Given the description of an element on the screen output the (x, y) to click on. 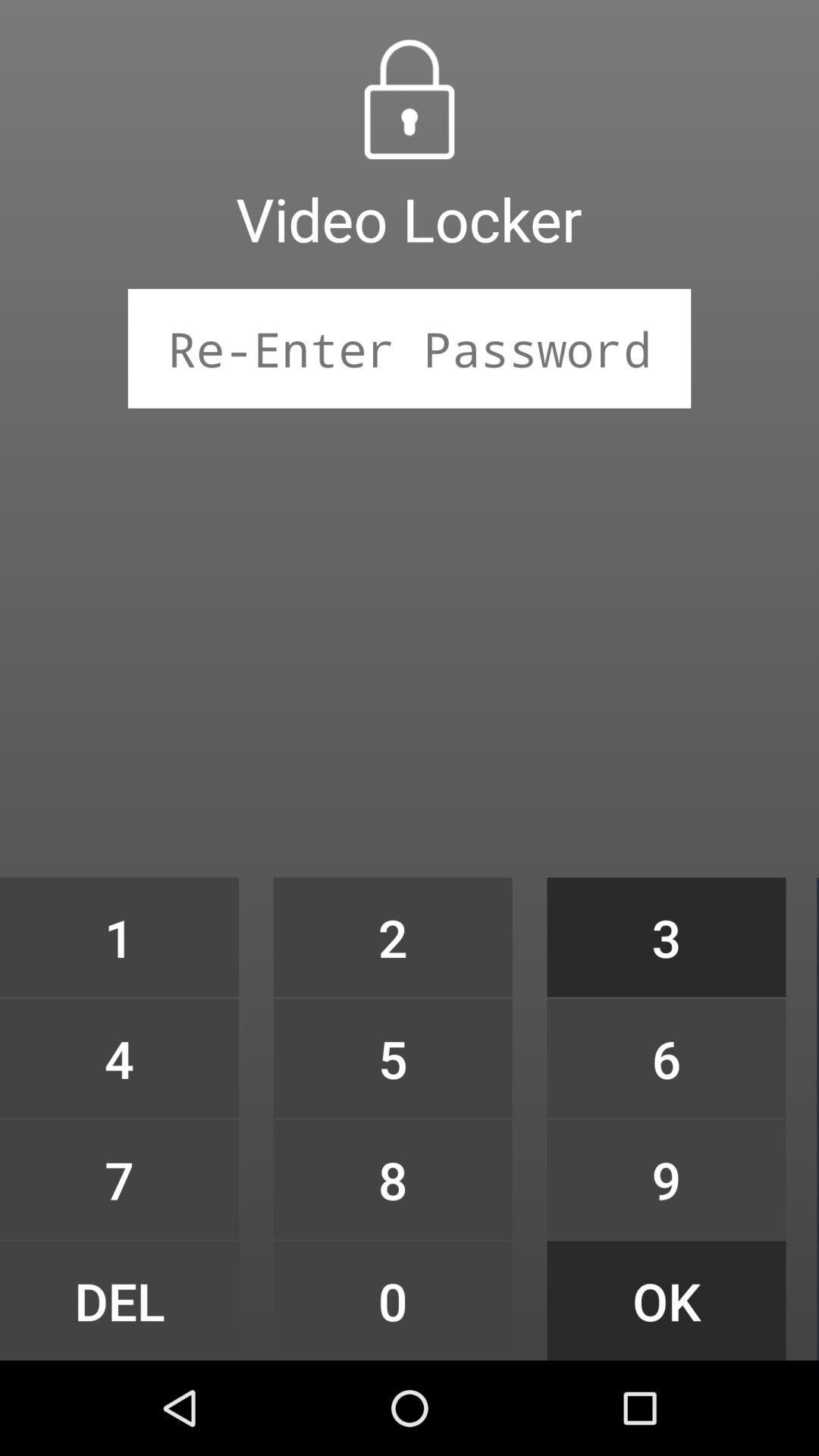
flip to 0 item (392, 1300)
